Given the description of an element on the screen output the (x, y) to click on. 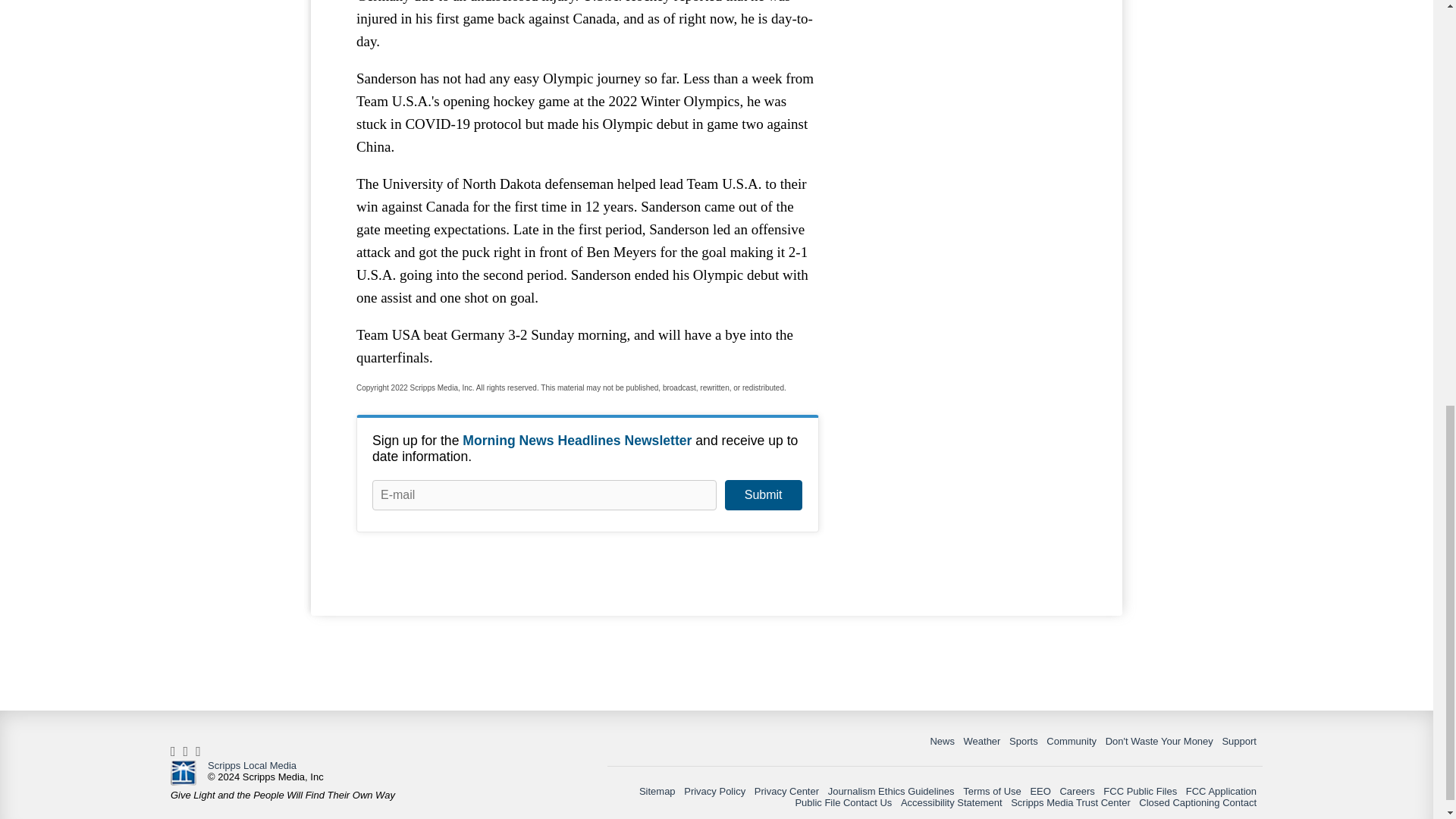
Submit (763, 494)
